Given the description of an element on the screen output the (x, y) to click on. 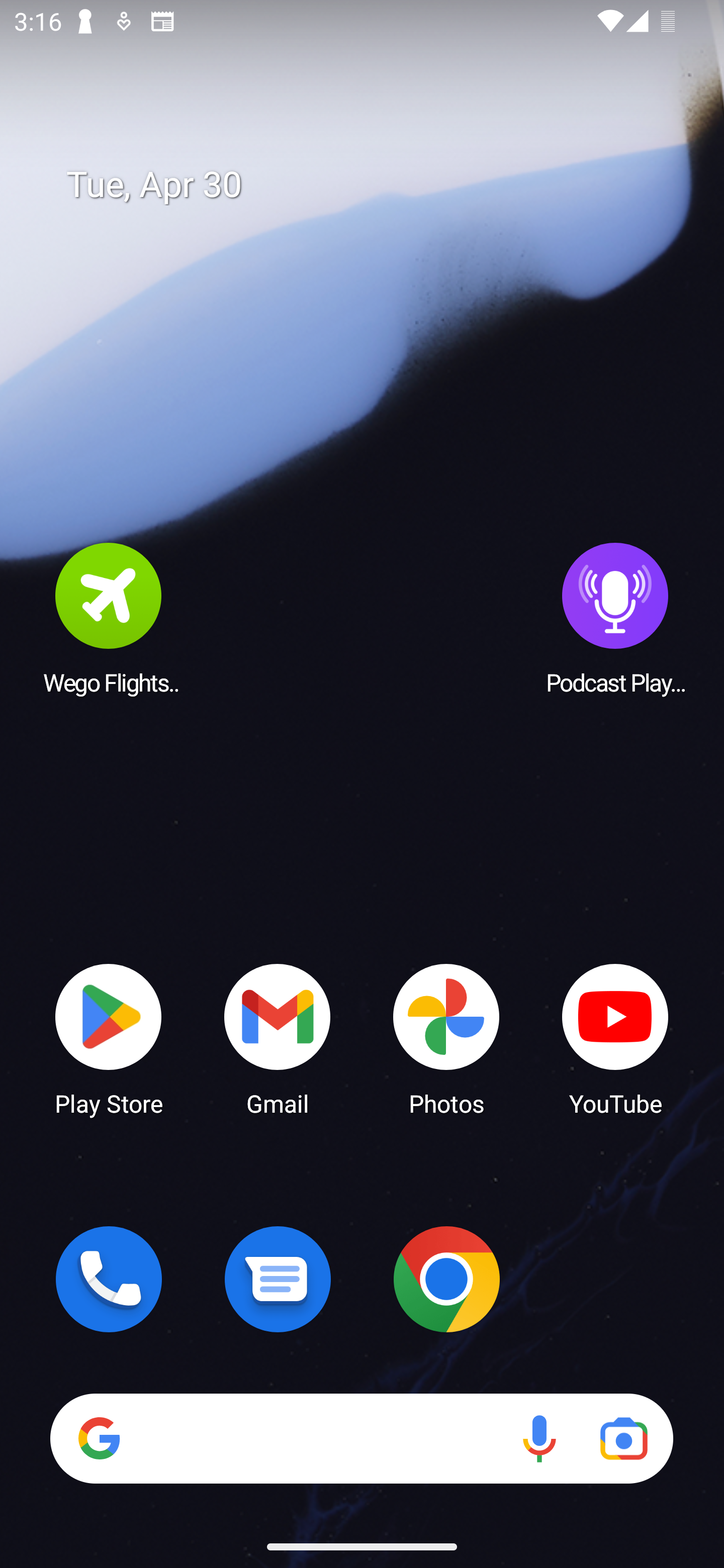
Tue, Apr 30 (375, 184)
Wego Flights & Hotels (108, 617)
Podcast Player (615, 617)
Play Store (108, 1038)
Gmail (277, 1038)
Photos (445, 1038)
YouTube (615, 1038)
Phone (108, 1279)
Messages (277, 1279)
Chrome (446, 1279)
Voice search (539, 1438)
Google Lens (623, 1438)
